Given the description of an element on the screen output the (x, y) to click on. 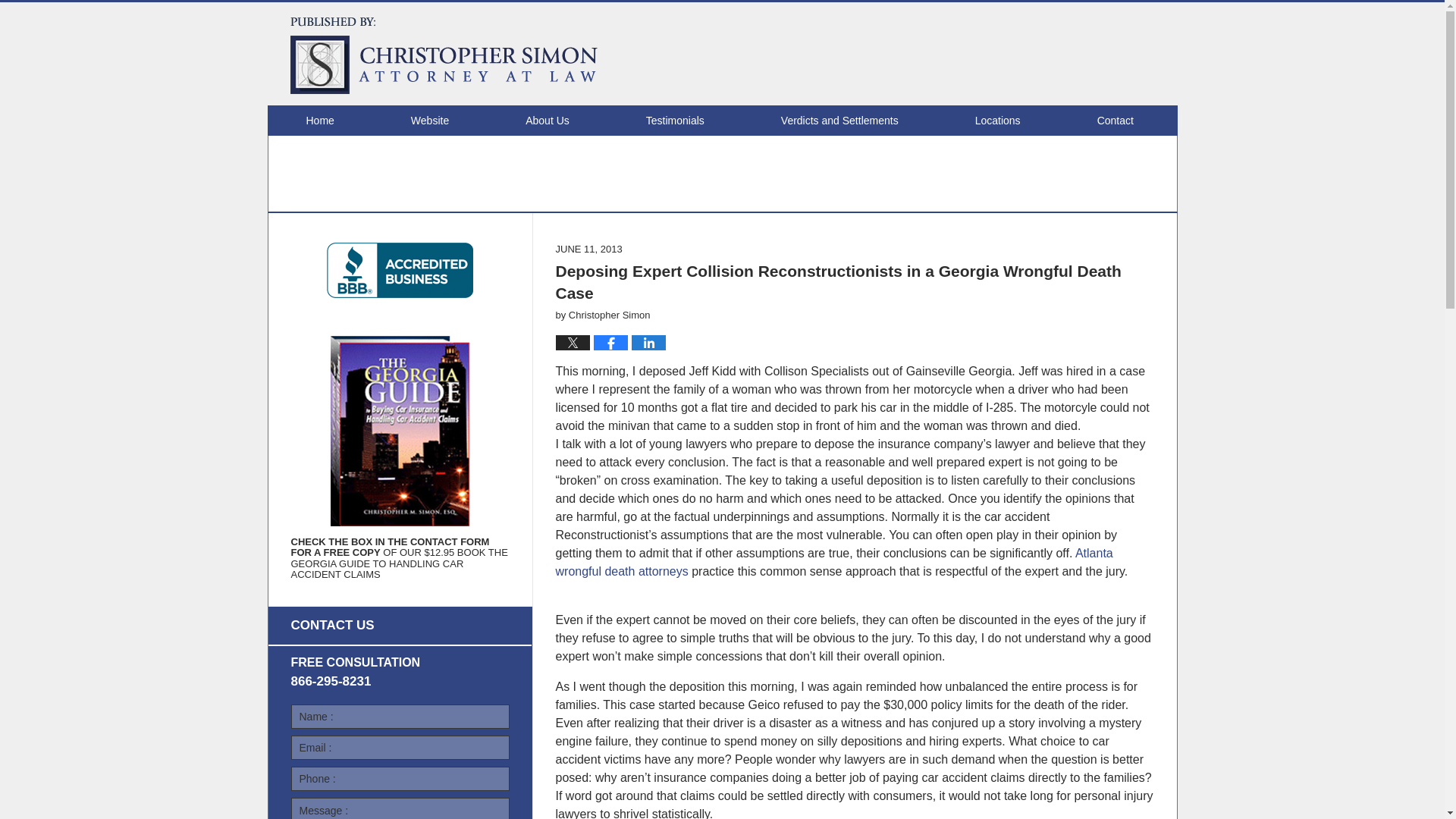
Atlanta Injury Attorney Blog (442, 55)
Contact (1115, 120)
Home (318, 120)
Website (429, 120)
Locations (997, 120)
Atlanta wrongful death attorneys (833, 562)
Verdicts and Settlements (839, 120)
About Us (546, 120)
Please enter a valid phone number. (400, 778)
Published By Christopher M. Simon (1056, 53)
